Given the description of an element on the screen output the (x, y) to click on. 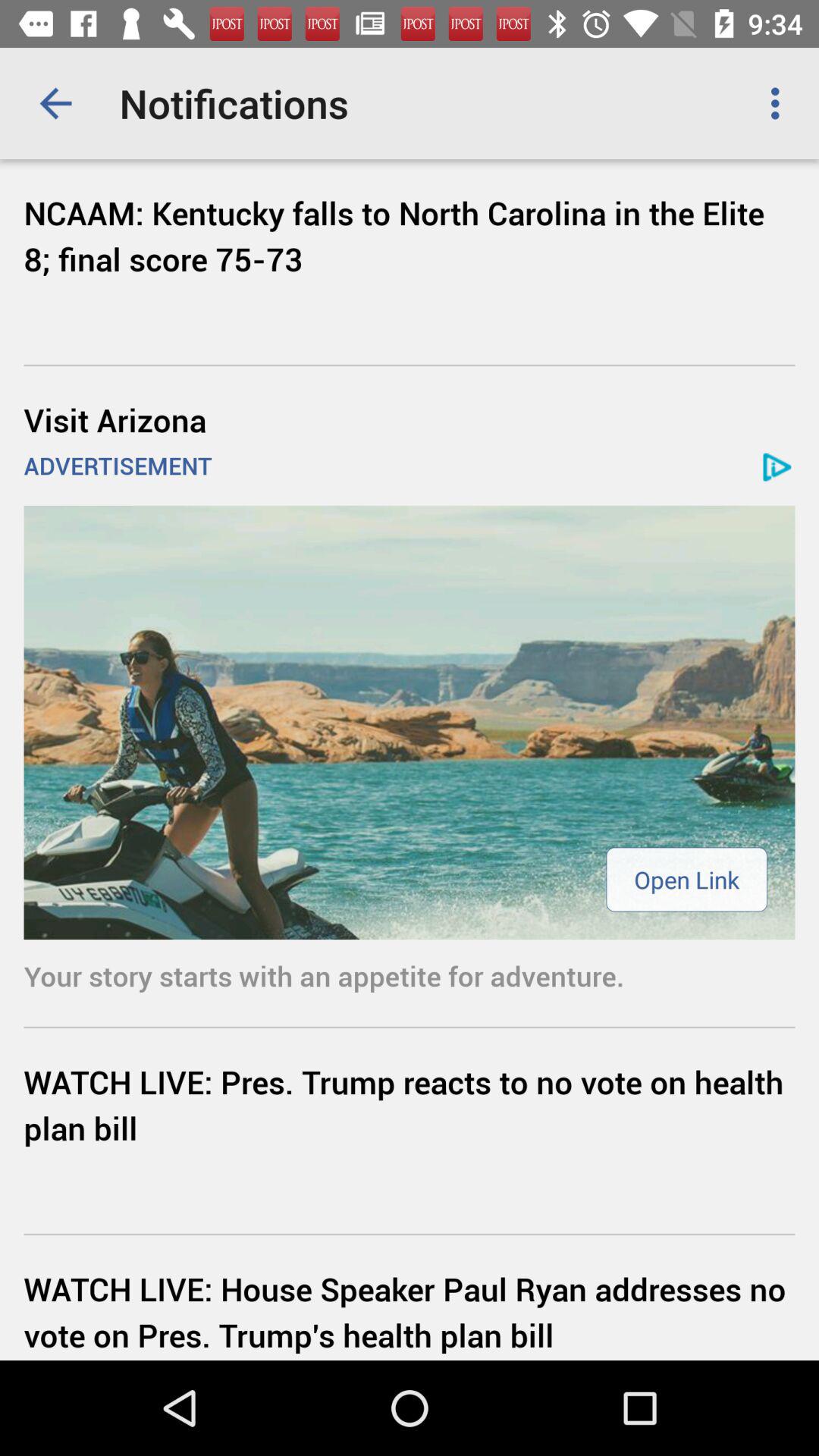
press the icon above your story starts icon (686, 879)
